Given the description of an element on the screen output the (x, y) to click on. 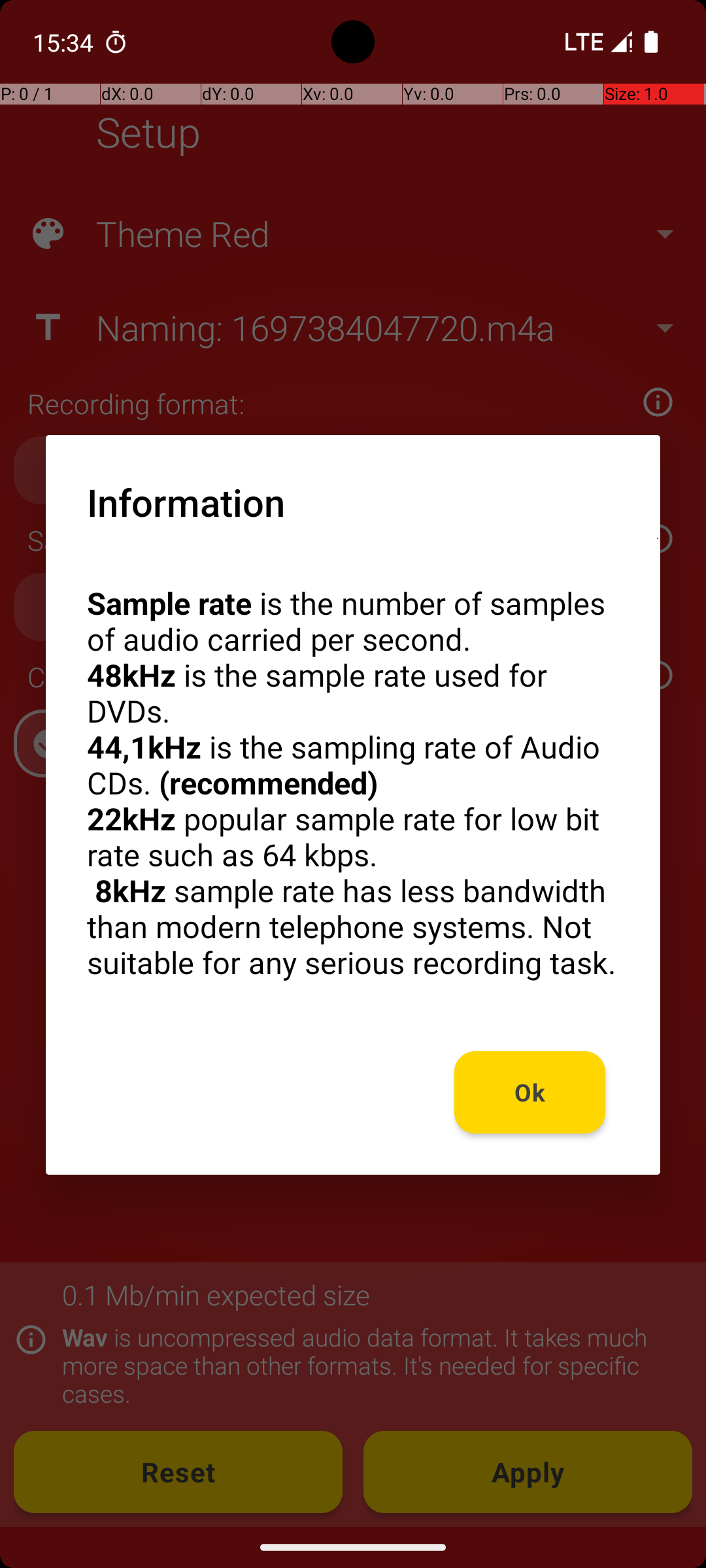
Information Element type: android.widget.TextView (185, 501)
Sample rate is the number of samples of audio carried per second. 
48kHz is the sample rate used for DVDs. 
44,1kHz is the sampling rate of Audio CDs. (recommended) 
22kHz popular sample rate for low bit rate such as 64 kbps. 
 8kHz sample rate has less bandwidth than modern telephone systems. Not suitable for any serious recording task.  Element type: android.widget.TextView (352, 782)
Ok Element type: android.widget.Button (529, 1092)
Clock notification:  Element type: android.widget.ImageView (115, 41)
Phone signal full. Element type: android.widget.FrameLayout (595, 41)
